Given the description of an element on the screen output the (x, y) to click on. 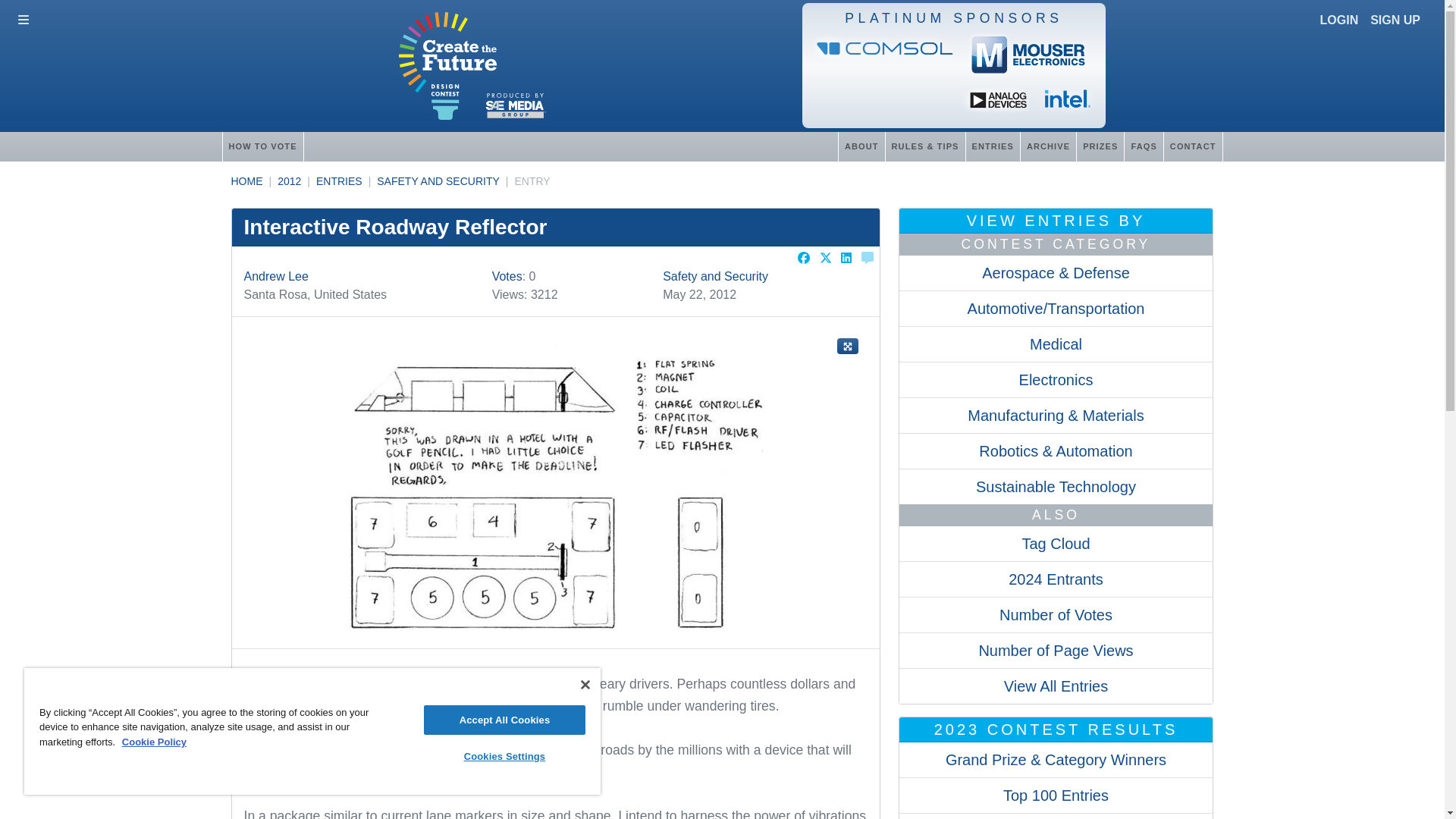
HOW TO VOTE (261, 146)
ABOUT (861, 146)
SAFETY AND SECURITY (438, 181)
ARCHIVE (1047, 146)
HOME (246, 181)
FAQS (1142, 146)
Safety and Security (715, 276)
SIGN UP (1395, 20)
Andrew Lee (276, 276)
Votes (507, 276)
